Given the description of an element on the screen output the (x, y) to click on. 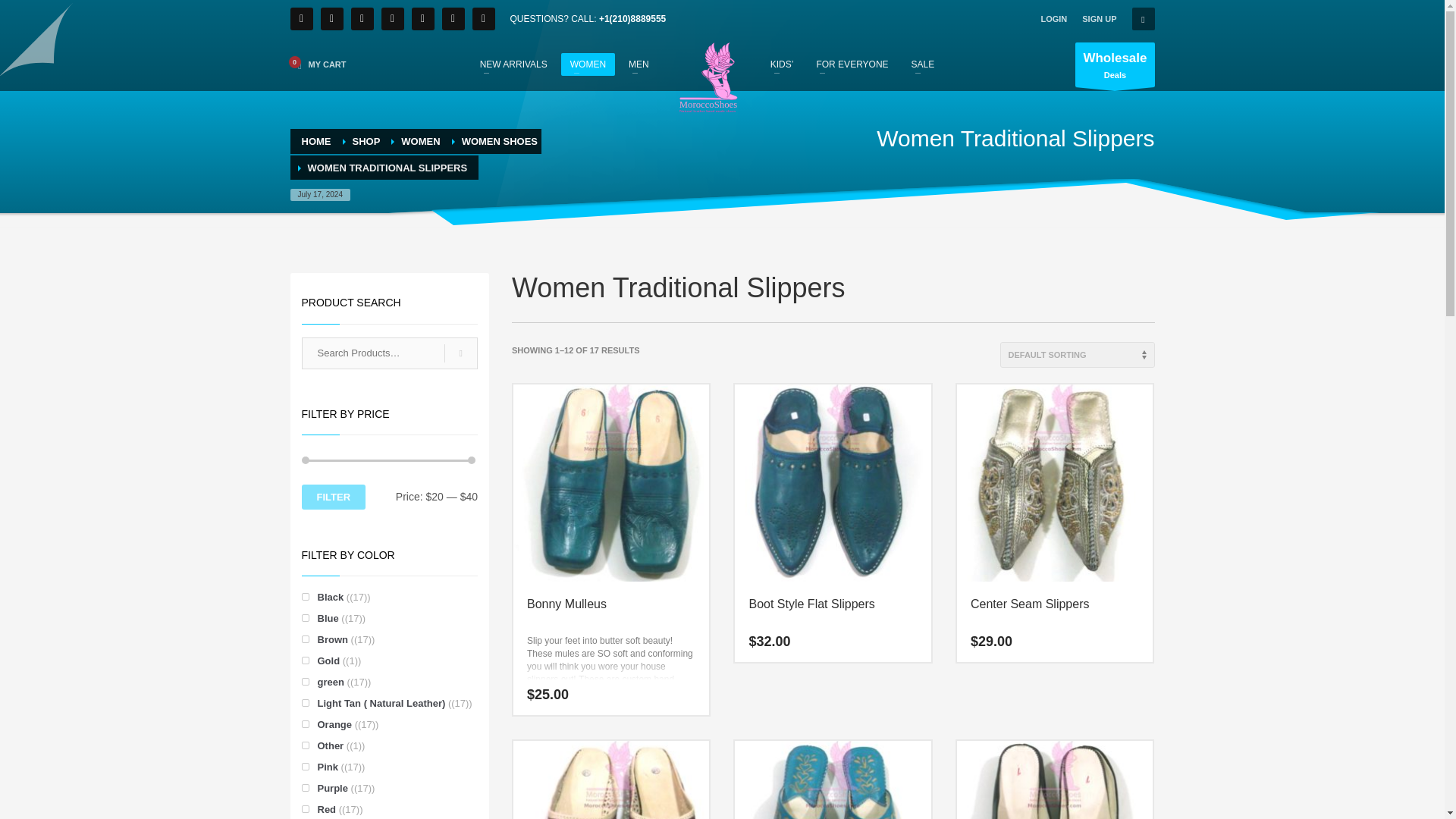
Pinterest (361, 18)
MY CART (317, 64)
YouTube (452, 18)
View your shopping cart (317, 64)
LOGIN (1054, 18)
SIGN UP (1098, 18)
Twitter (331, 18)
Facebook (301, 18)
NEW ARRIVALS (513, 63)
Vimeo (483, 18)
Instagram (421, 18)
